Given the description of an element on the screen output the (x, y) to click on. 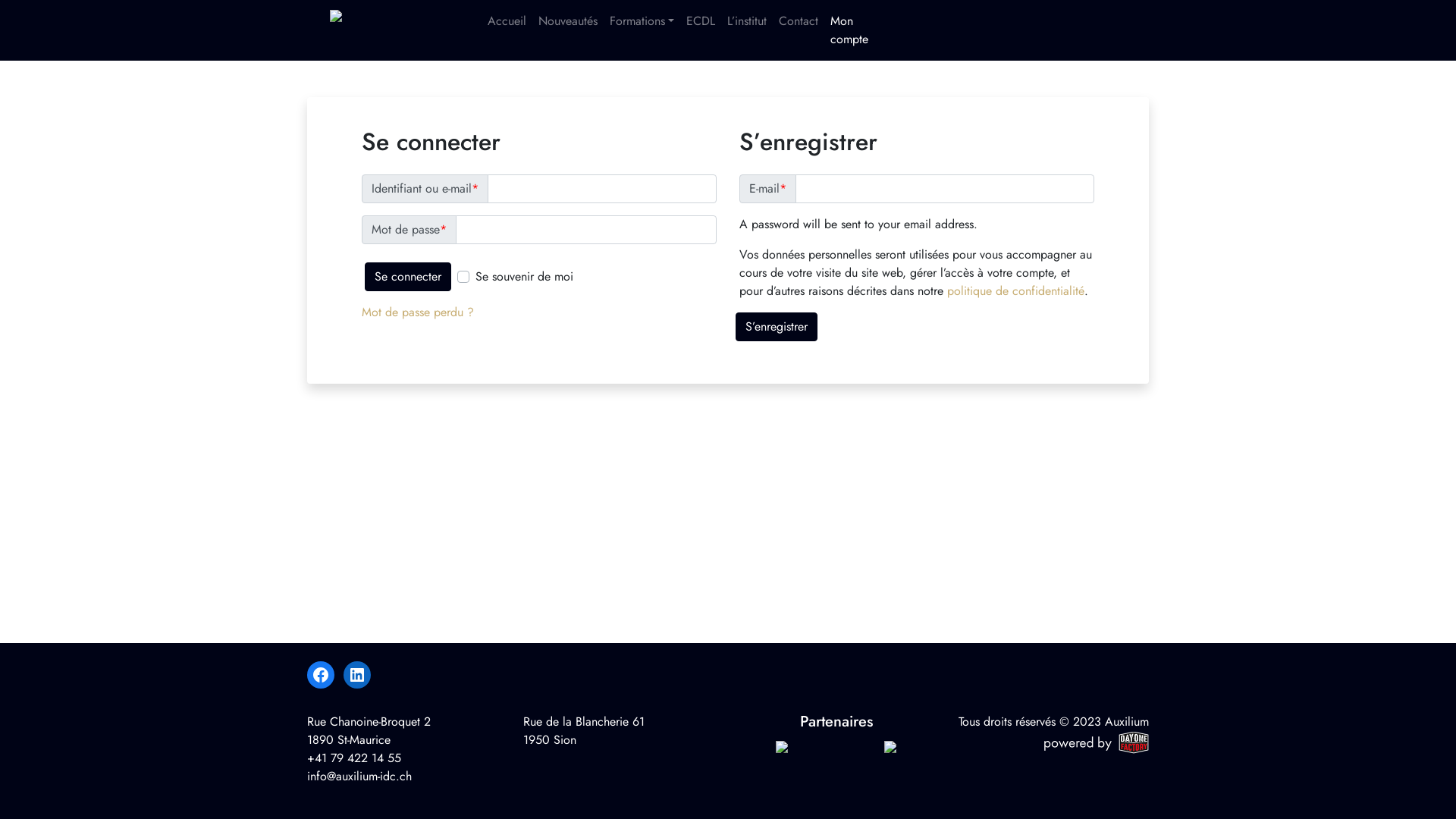
Accueil Element type: text (506, 21)
Se connecter Element type: text (407, 276)
Mot de passe perdu ? Element type: text (417, 311)
Facebook Element type: text (320, 674)
Mon compte Element type: text (849, 30)
LinkedIn Element type: text (356, 674)
info@auxilium-idc.ch Element type: text (359, 775)
ECDL Element type: text (700, 21)
Contact Element type: text (798, 21)
+41 79 422 14 55 Element type: text (354, 757)
Formations Element type: text (641, 21)
